Given the description of an element on the screen output the (x, y) to click on. 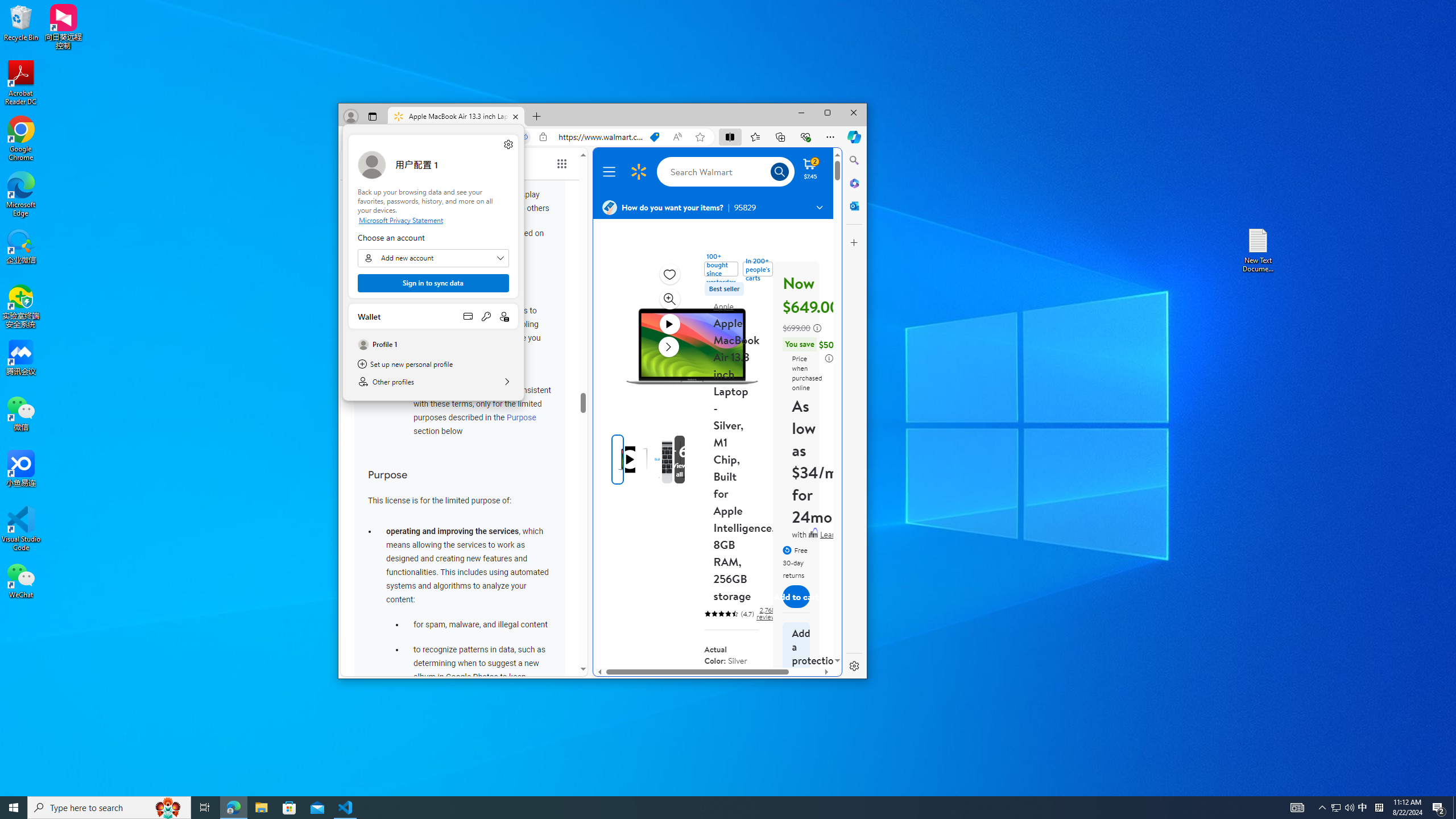
2,768 reviews (766, 613)
This site has coupons! Shopping in Microsoft Edge, 7 (654, 136)
User Promoted Notification Area (1342, 807)
Running applications (707, 807)
Customize (854, 242)
Show desktop (1454, 807)
Sign in to sync data (433, 283)
Menu (611, 171)
Microsoft Store (289, 807)
